Given the description of an element on the screen output the (x, y) to click on. 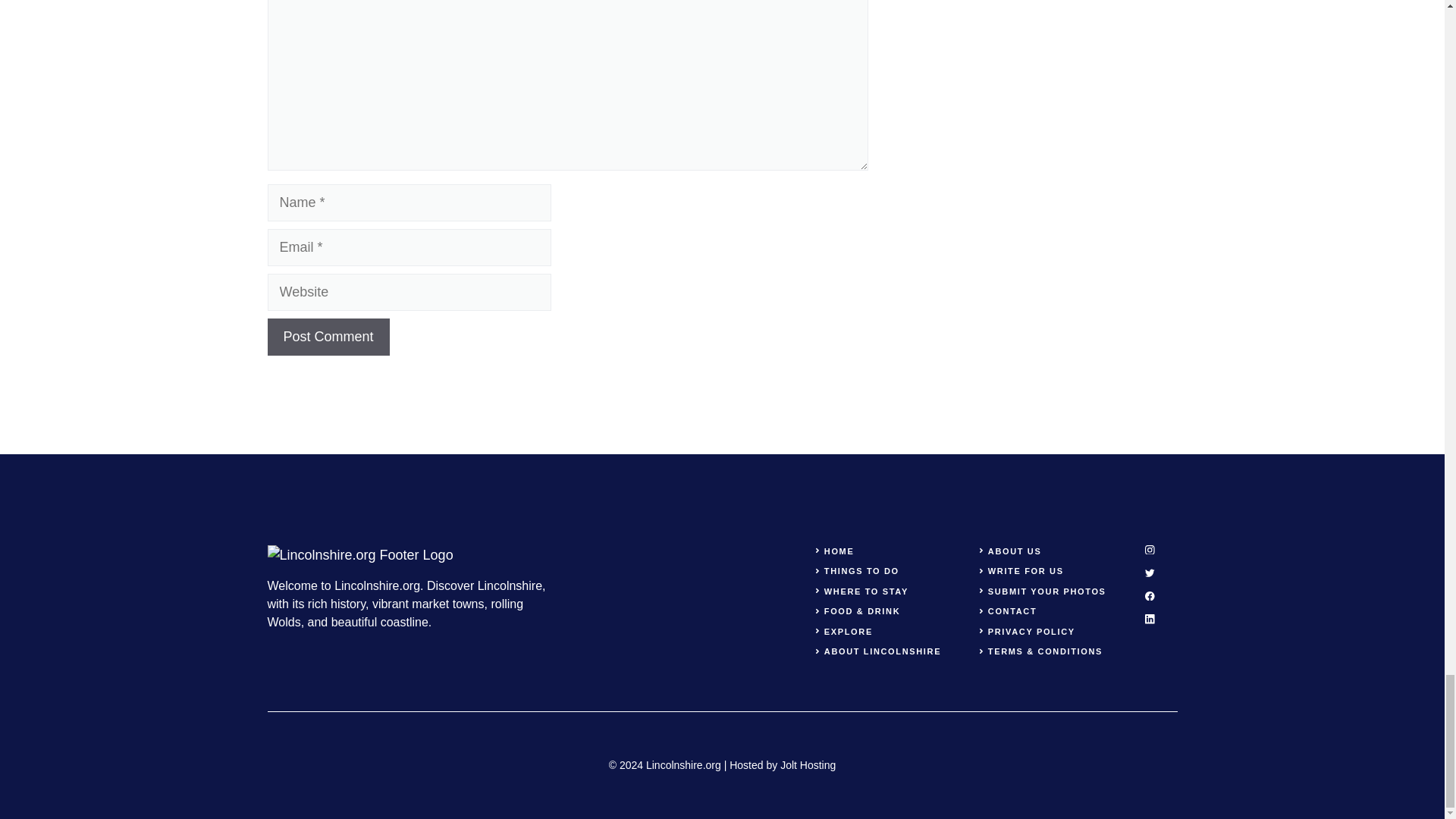
Post Comment (327, 336)
Lincolshire-org-footer-logo (359, 555)
Post Comment (327, 336)
